Given the description of an element on the screen output the (x, y) to click on. 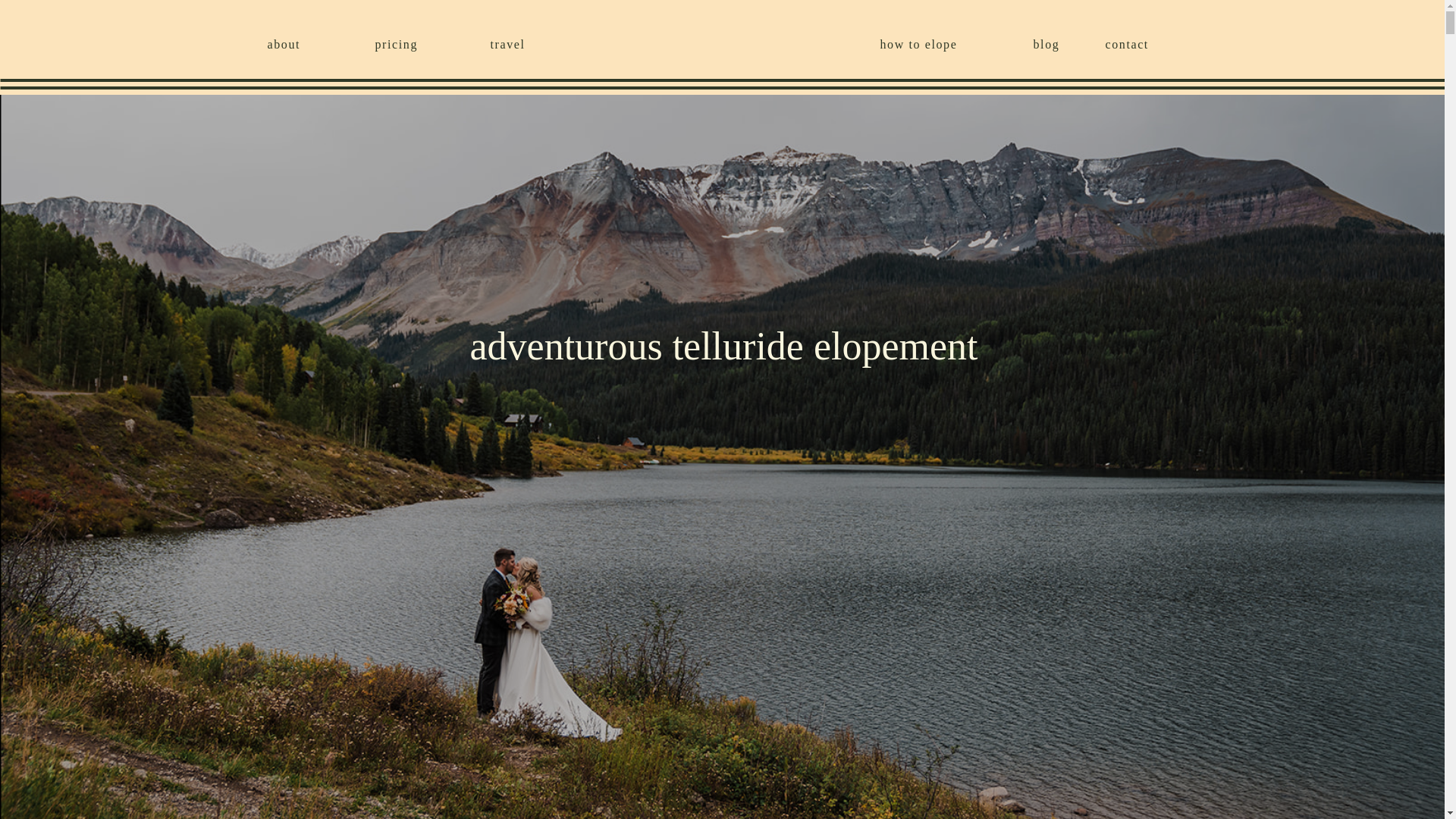
contact (1141, 42)
pricing (404, 42)
how to elope (940, 42)
travel (519, 42)
about (293, 42)
blog (1053, 42)
